Given the description of an element on the screen output the (x, y) to click on. 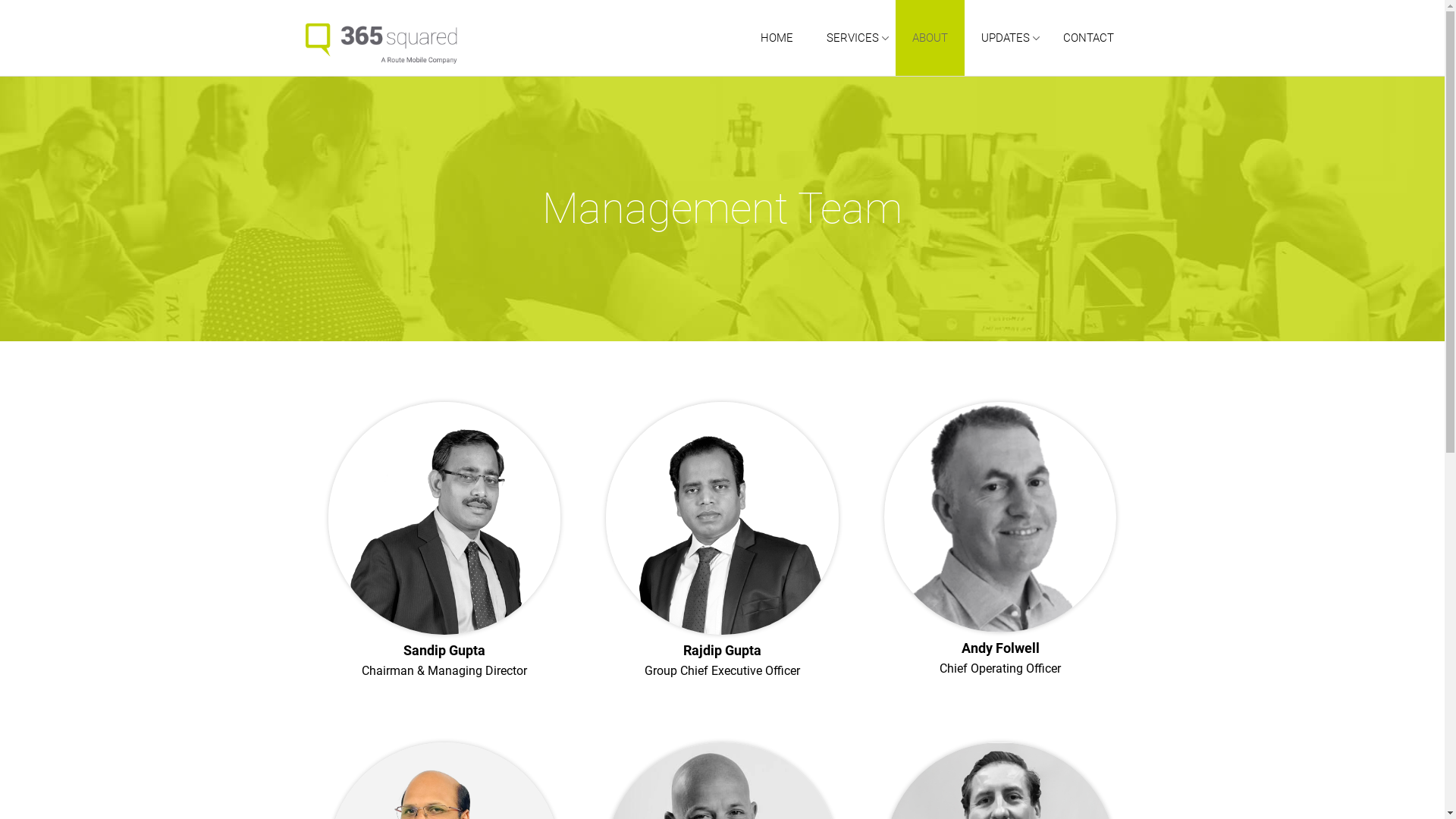
UPDATES Element type: text (1005, 37)
ABOUT Element type: text (928, 37)
SERVICES Element type: text (852, 37)
HOME Element type: text (776, 37)
CONTACT Element type: text (1088, 37)
